Given the description of an element on the screen output the (x, y) to click on. 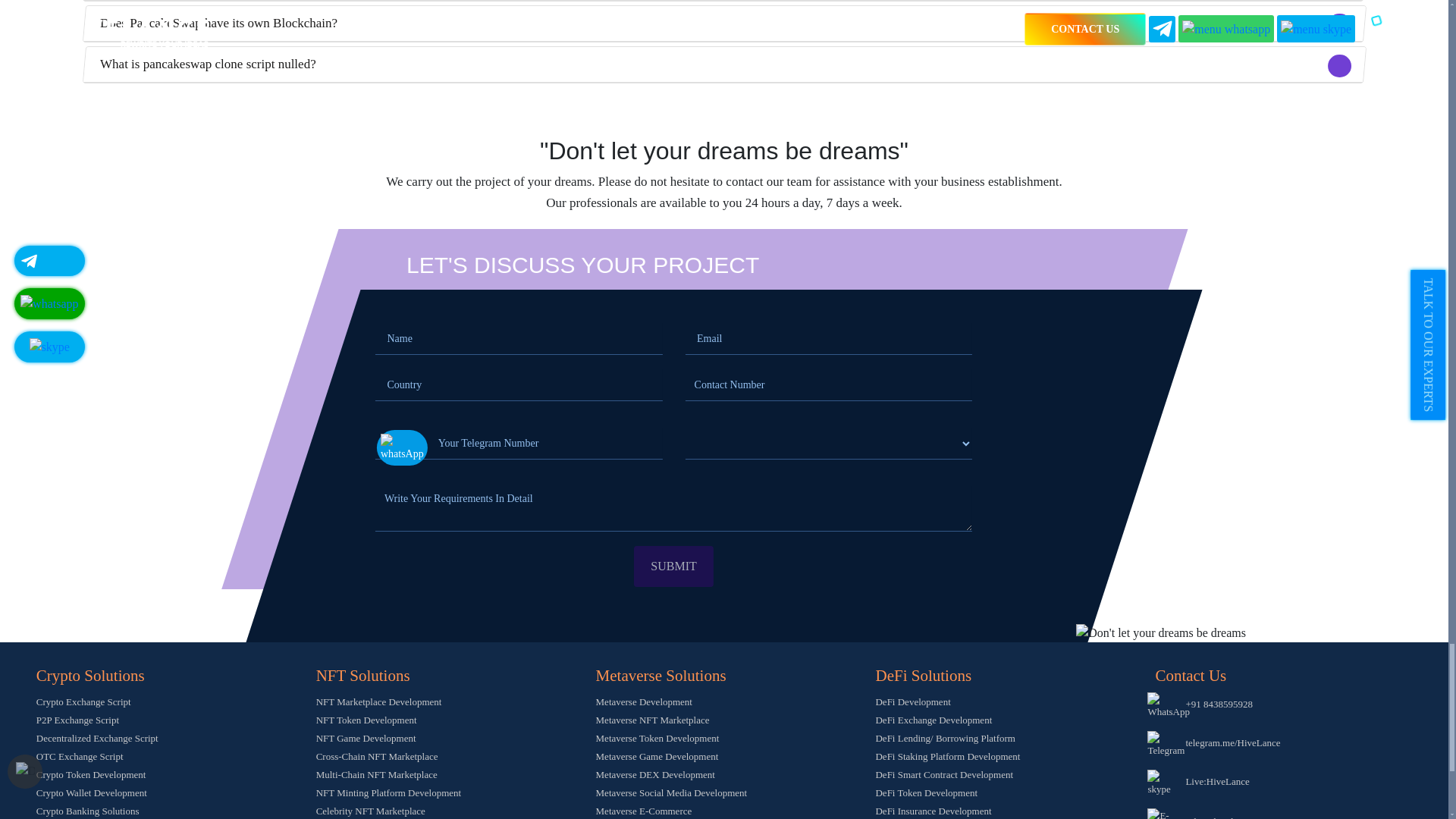
Don't let your dreams be dreams (1160, 633)
E-mail (1163, 813)
whatsApp (401, 447)
skype (1163, 782)
WhatsApp (1168, 705)
Telegram (1166, 744)
